Given the description of an element on the screen output the (x, y) to click on. 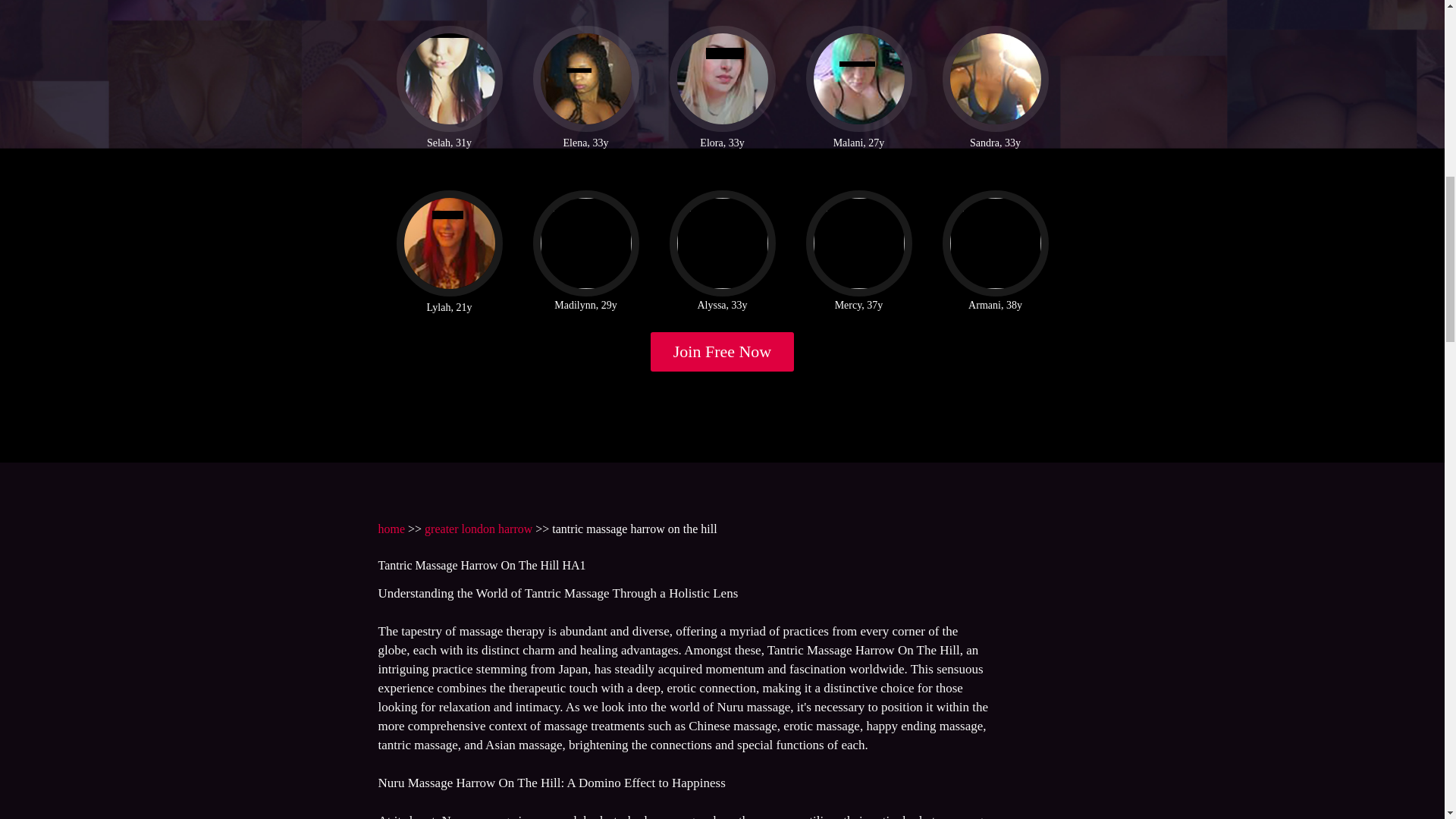
Join (722, 351)
Join Free Now (722, 351)
greater london harrow (478, 528)
home (390, 528)
